Given the description of an element on the screen output the (x, y) to click on. 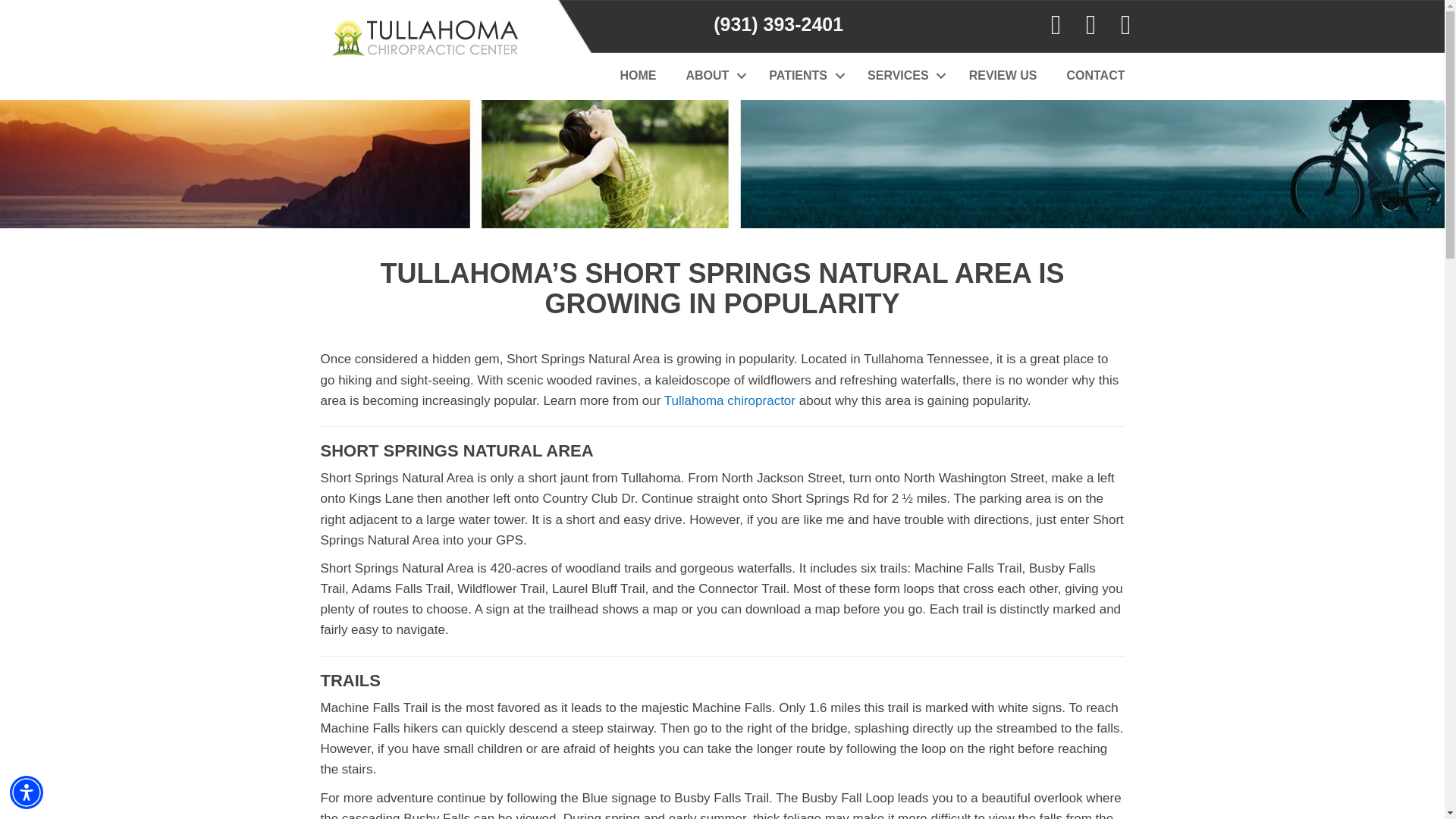
Chiropractic Tullahoma TN Tullahoma Chiropractic Center (422, 31)
PATIENTS (802, 75)
SERVICES (903, 75)
HOME (637, 75)
Accessibility Menu (26, 792)
ABOUT (712, 75)
